Given the description of an element on the screen output the (x, y) to click on. 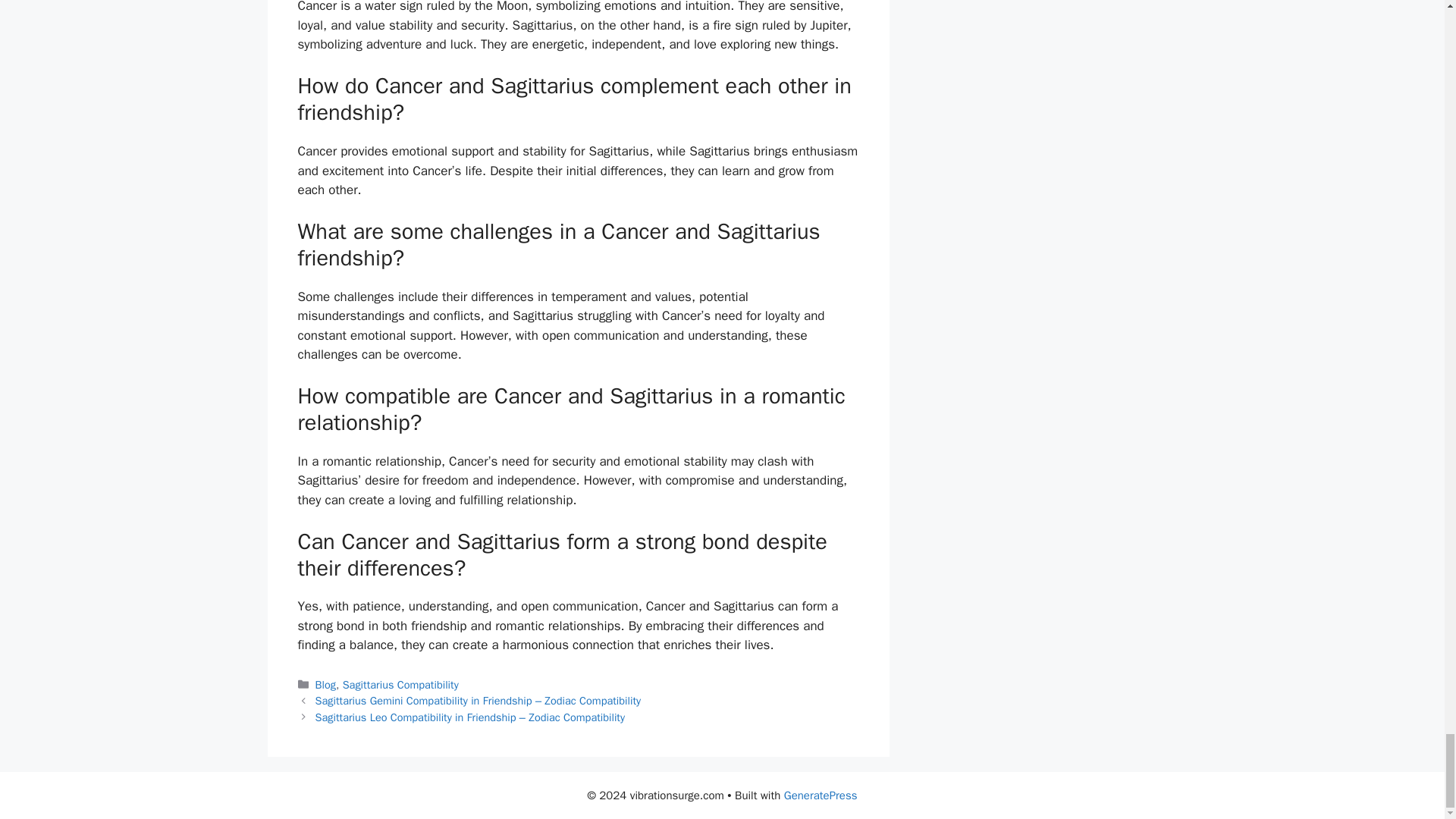
Blog (325, 684)
Sagittarius Compatibility (400, 684)
